Given the description of an element on the screen output the (x, y) to click on. 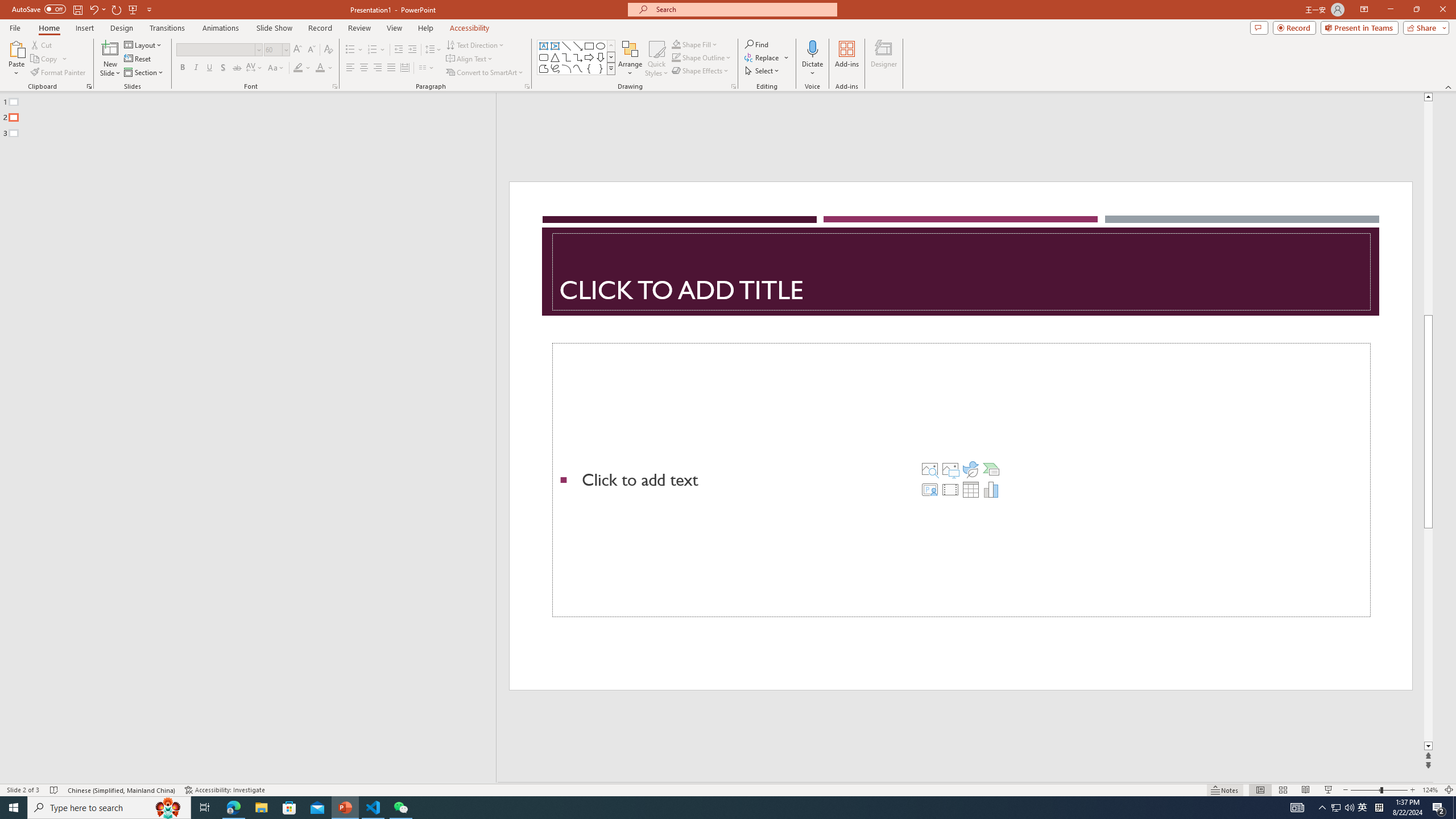
Insert Table (970, 489)
